Given the description of an element on the screen output the (x, y) to click on. 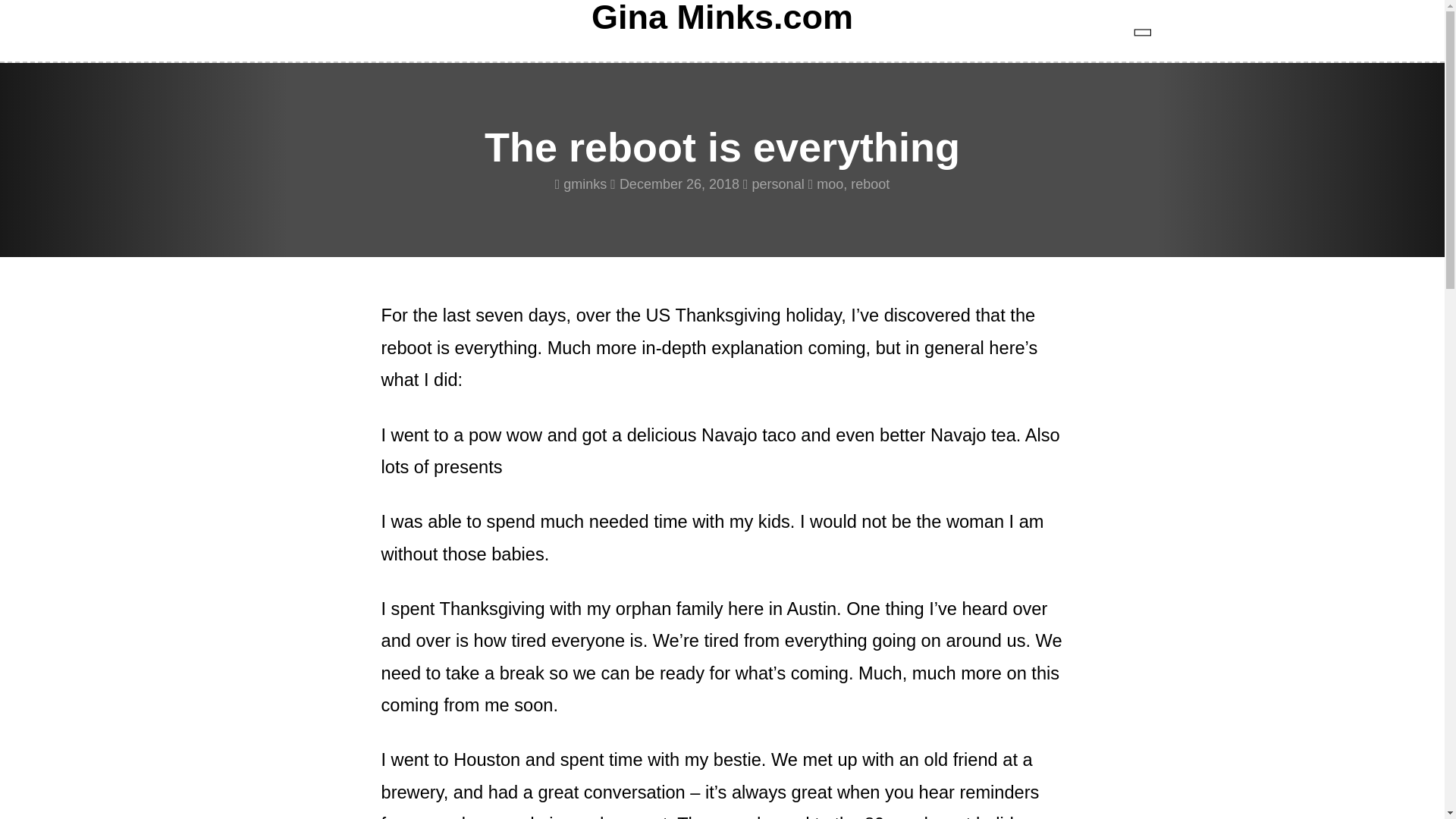
December 26, 2018 (679, 183)
personal (778, 183)
reboot (869, 183)
Gina Minks.com (722, 17)
moo (829, 183)
Search (43, 13)
gminks (585, 183)
